Given the description of an element on the screen output the (x, y) to click on. 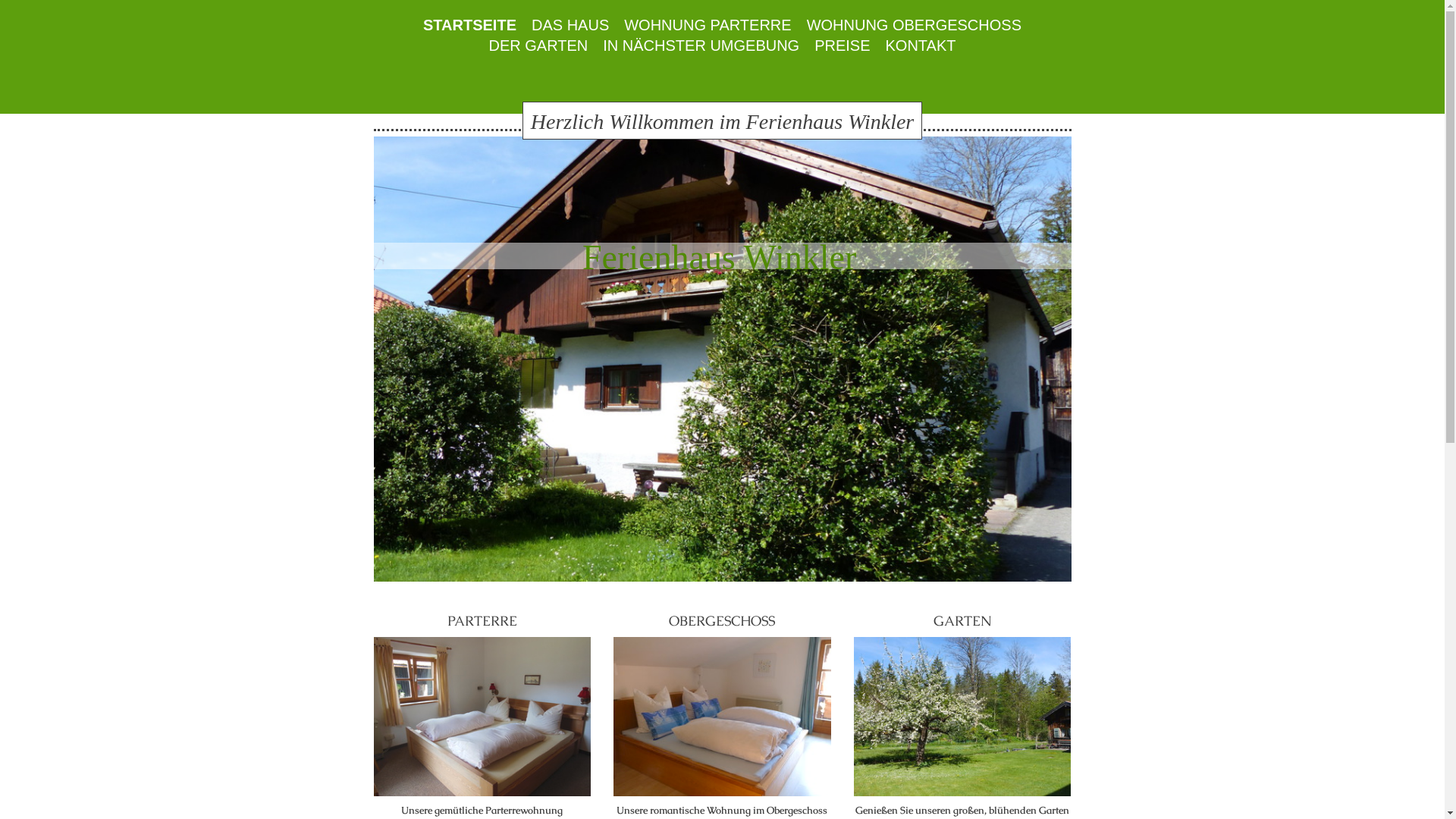
KONTAKT Element type: text (920, 45)
STARTSEITE Element type: text (469, 25)
PREISE Element type: text (841, 45)
WOHNUNG PARTERRE Element type: text (707, 25)
Herzlich Willkommen im Ferienhaus Winkler Element type: text (722, 120)
DAS HAUS Element type: text (570, 25)
DER GARTEN Element type: text (537, 45)
WOHNUNG OBERGESCHOSS Element type: text (914, 25)
